Given the description of an element on the screen output the (x, y) to click on. 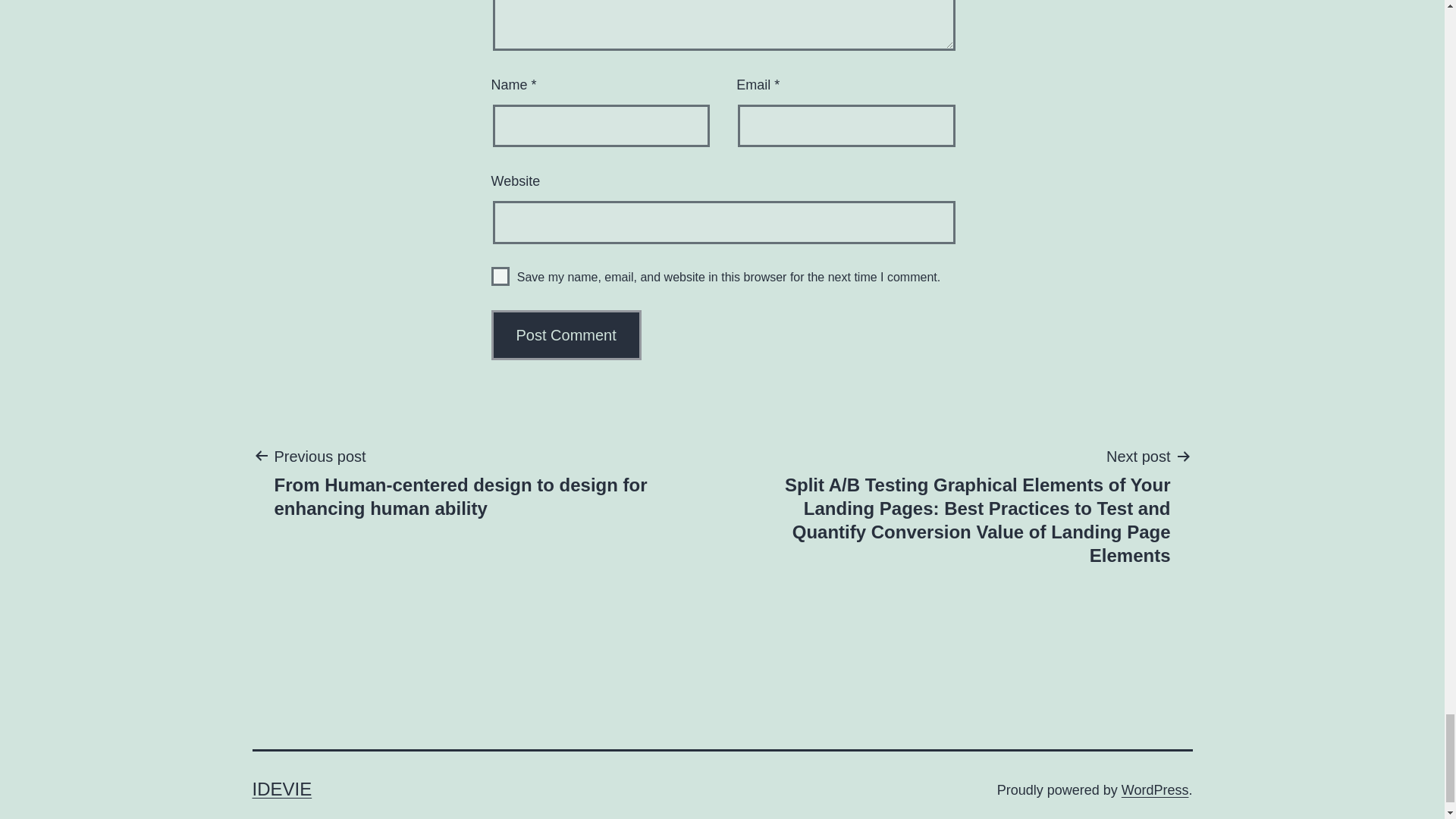
yes (500, 275)
Post Comment (567, 335)
